Given the description of an element on the screen output the (x, y) to click on. 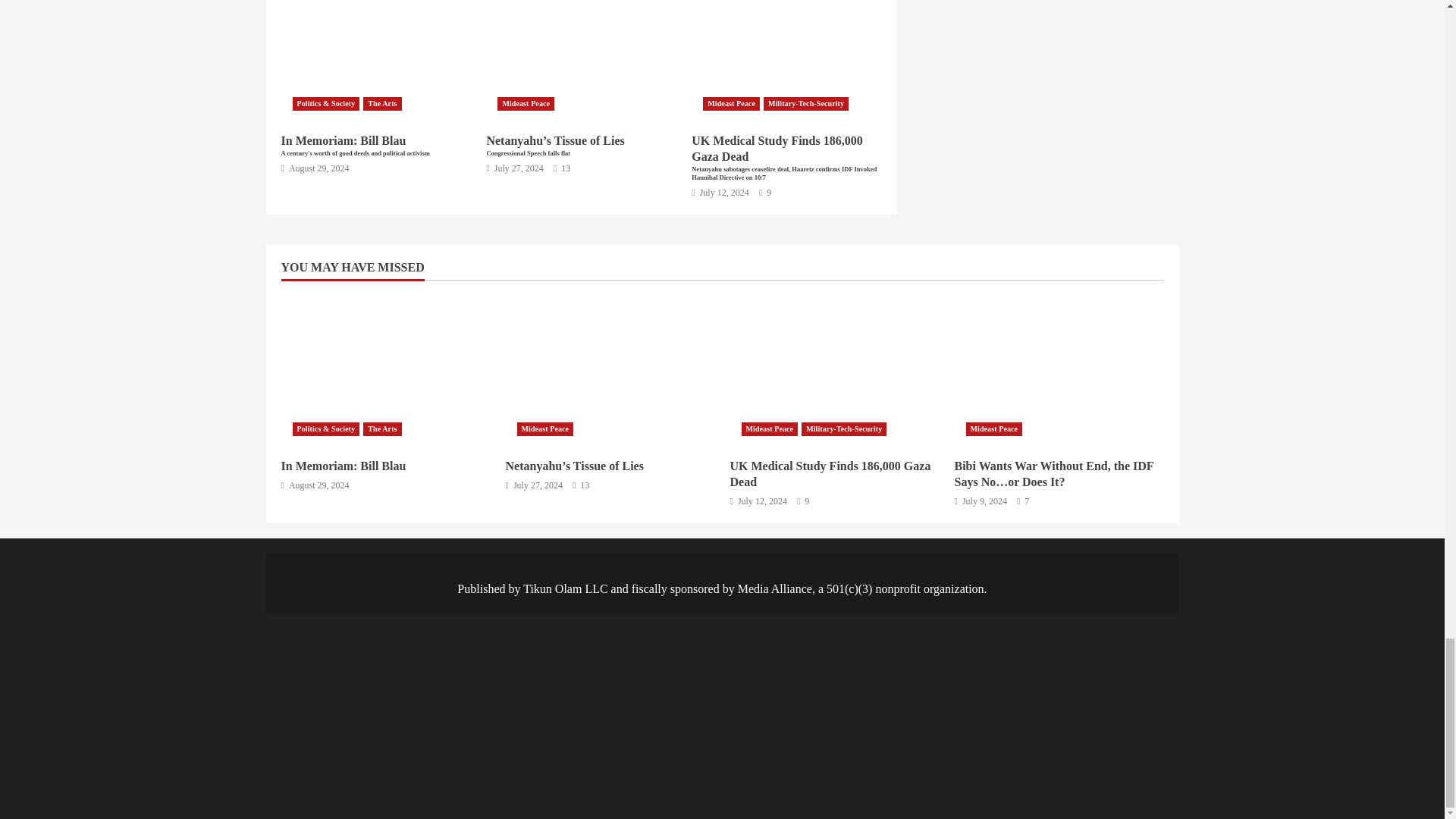
Mideast Peace (731, 103)
Military-Tech-Security (805, 103)
The Arts (381, 103)
13 (561, 168)
Mideast Peace (525, 103)
